Given the description of an element on the screen output the (x, y) to click on. 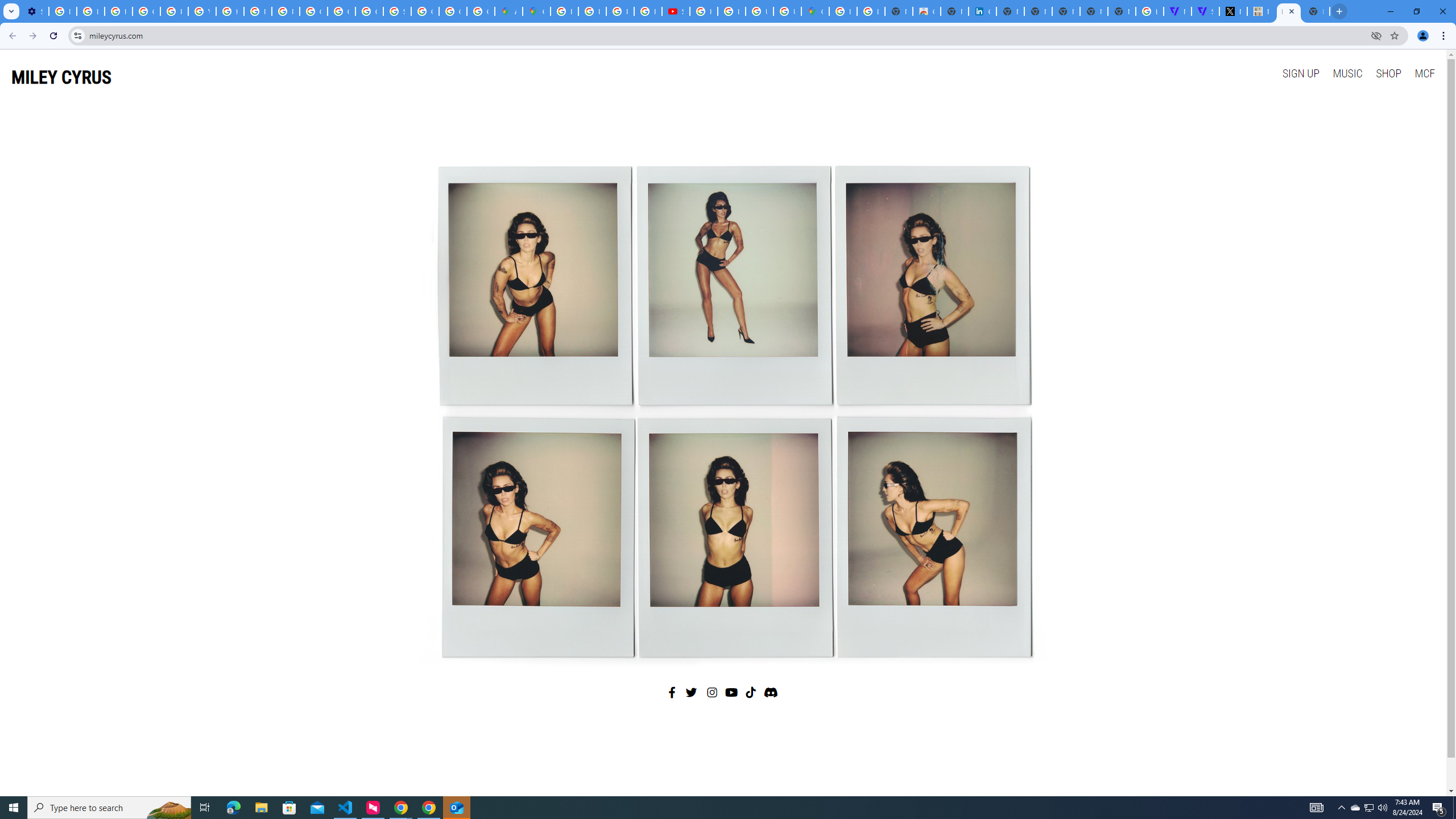
SIGN UP (1300, 73)
MUSIC (1347, 73)
Privacy Help Center - Policies Help (174, 11)
Miley Cyrus (722, 407)
Learn how to find your photos - Google Photos Help (90, 11)
SHOP (1387, 73)
MCF (1424, 73)
MILEY CYRUS. (1260, 11)
Instagram (712, 692)
